Given the description of an element on the screen output the (x, y) to click on. 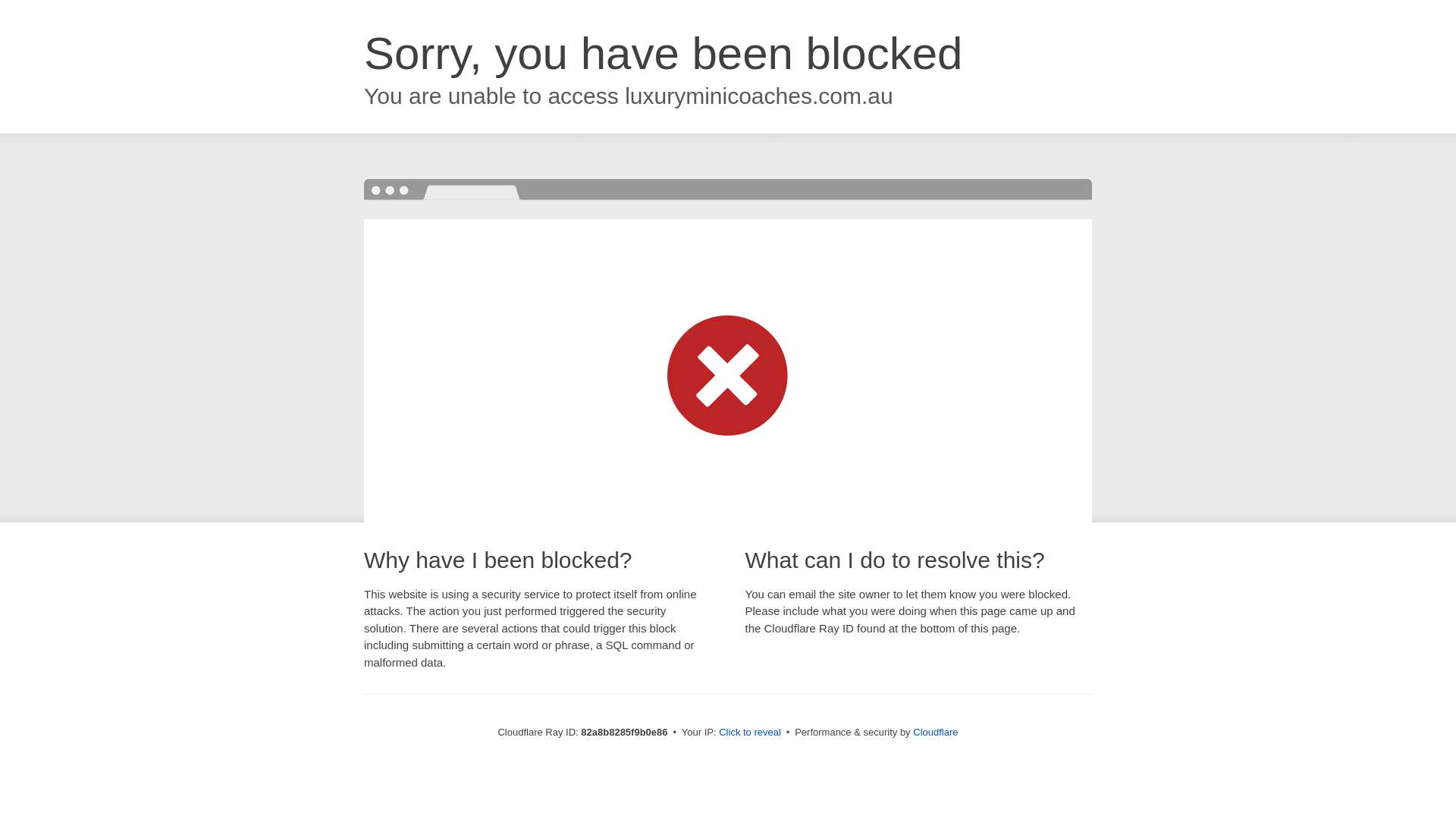
Cloudflare Element type: text (935, 731)
Click to reveal Element type: text (749, 732)
